Given the description of an element on the screen output the (x, y) to click on. 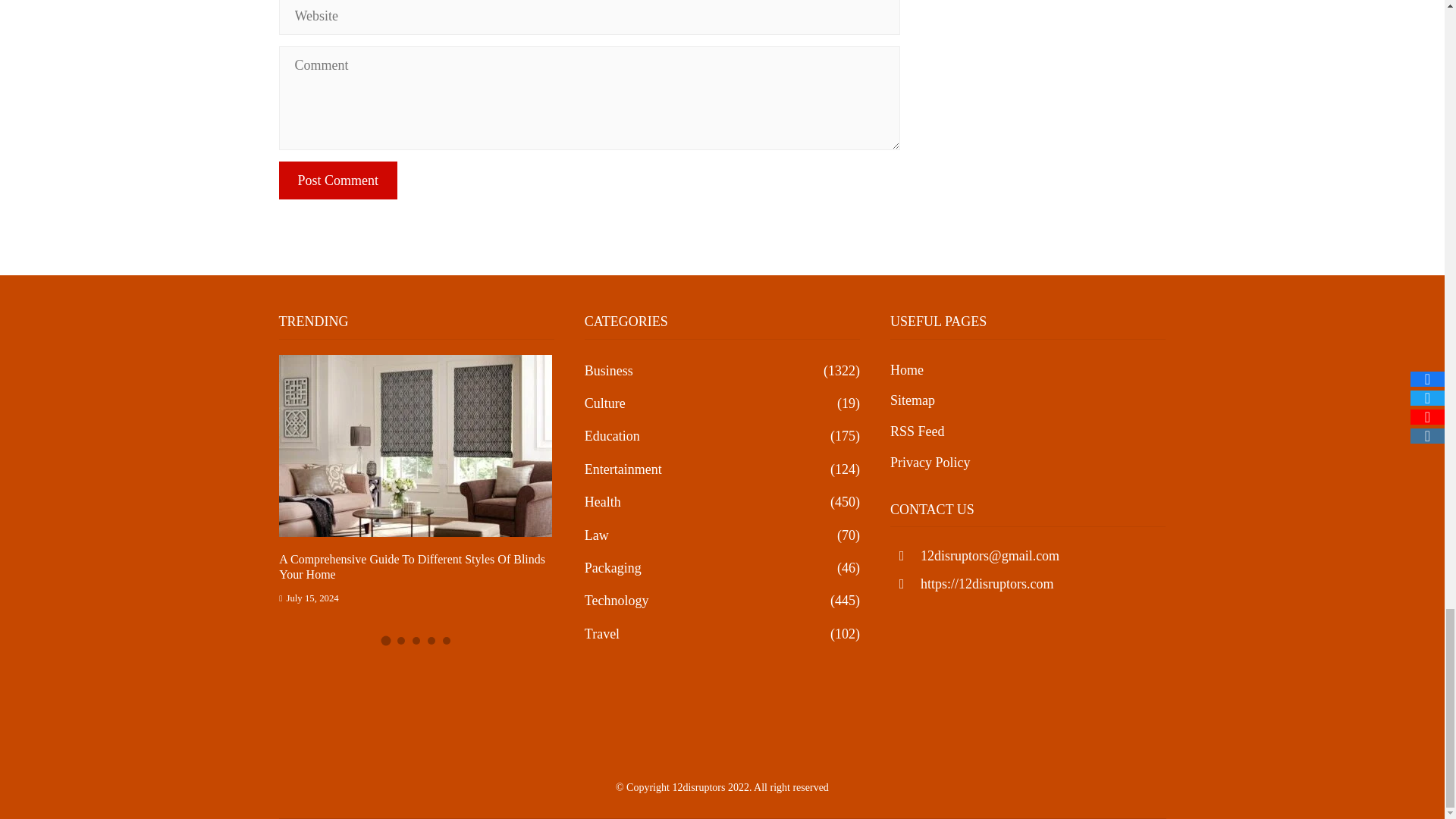
Post Comment (338, 180)
